Given the description of an element on the screen output the (x, y) to click on. 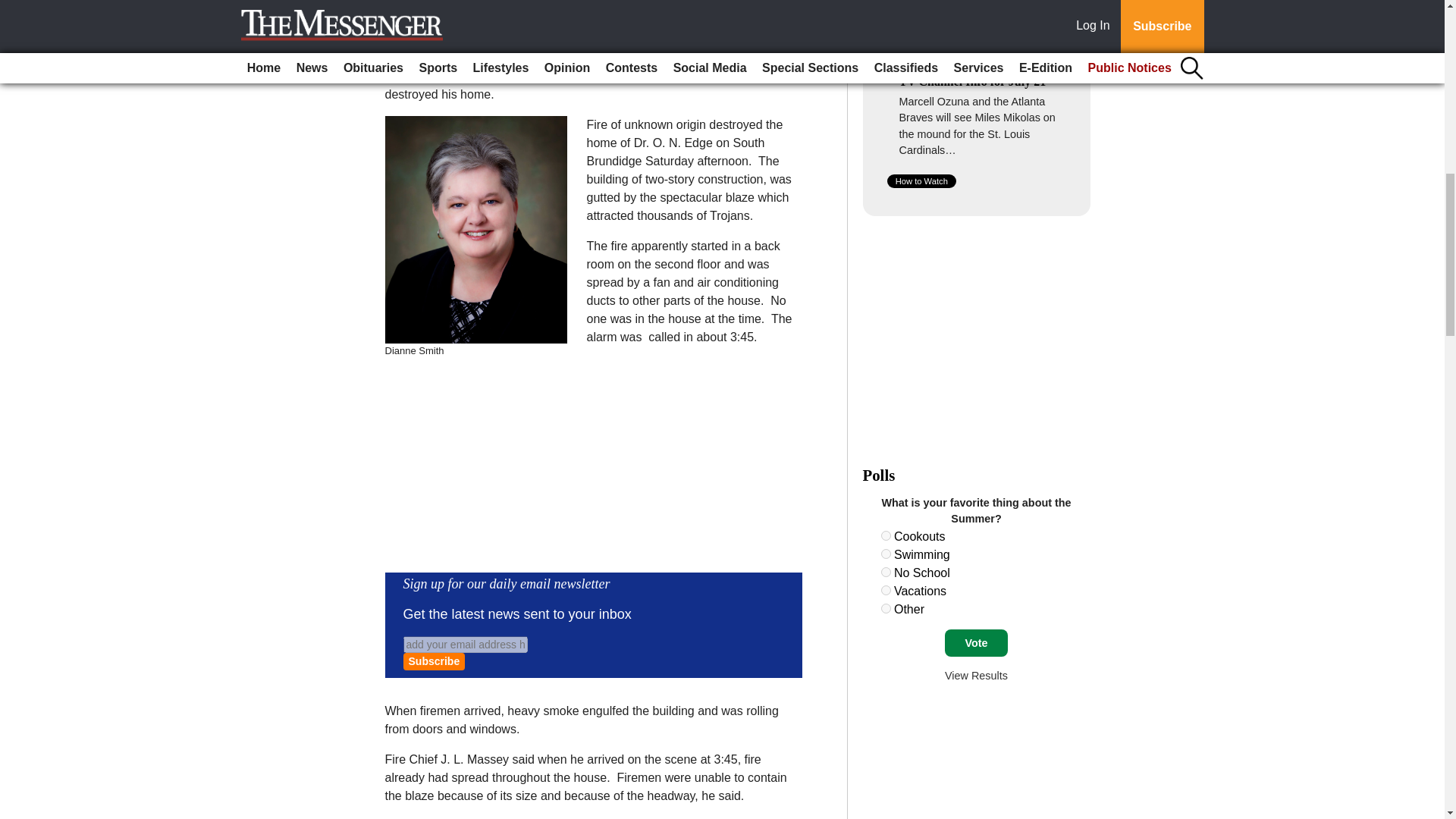
7274 (885, 535)
7277 (885, 590)
7278 (885, 608)
7276 (885, 572)
   Vote    (975, 642)
View Results Of This Poll (975, 675)
Subscribe (434, 661)
7275 (885, 553)
